Given the description of an element on the screen output the (x, y) to click on. 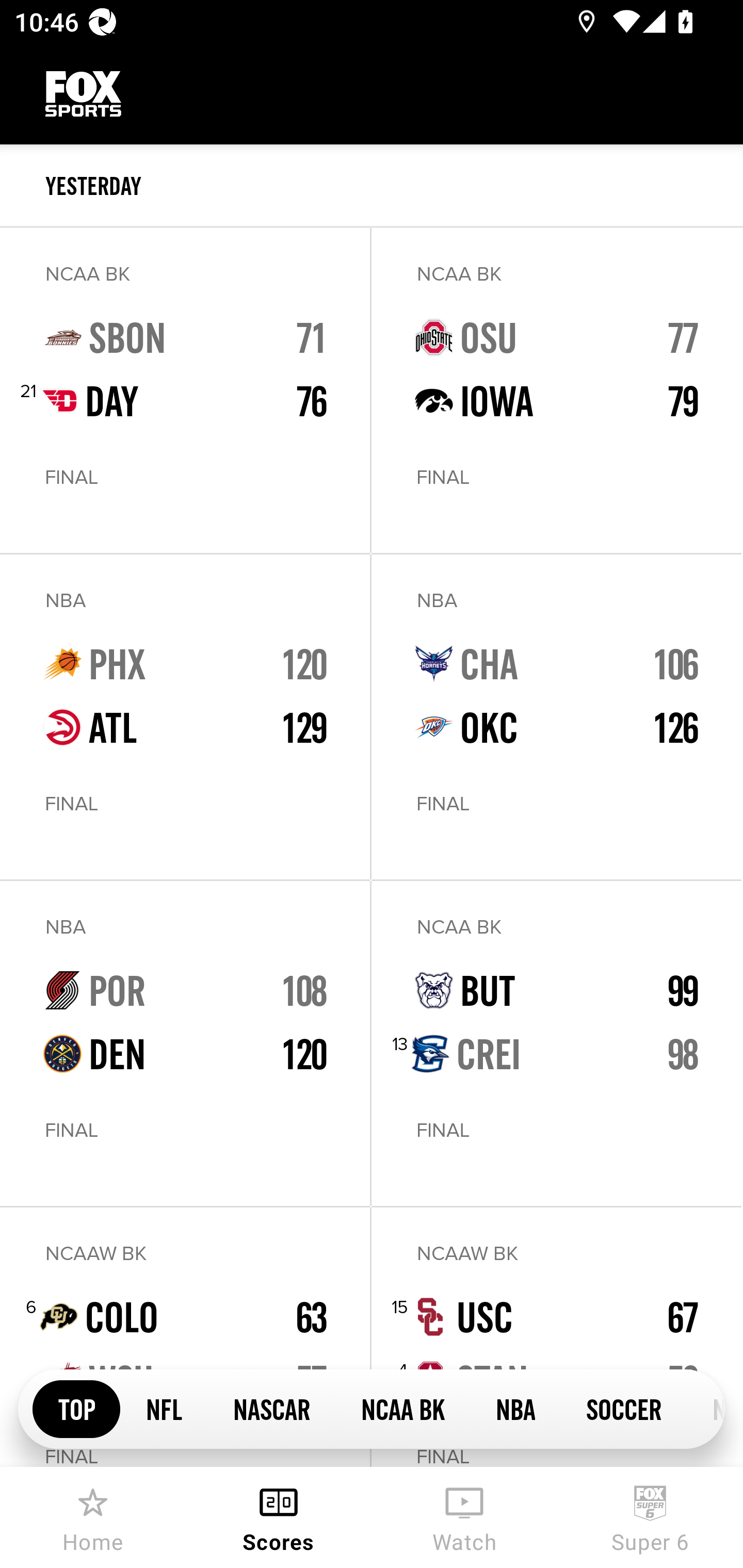
YESTERDAY (394, 185)
NCAA BK SBON 71 21 DAY 76 FINAL (185, 390)
NCAA BK OSU 77 IOWA 79 FINAL (556, 390)
NBA PHX 120 ATL 129 FINAL (185, 717)
NBA CHA 106 OKC 126 FINAL (556, 717)
NBA POR 108 DEN 120 FINAL (185, 1043)
NCAA BK BUT 99 13 CREI 98 FINAL (556, 1043)
NCAAW BK 6 COLO 63 WSU 57 FINAL (185, 1337)
NCAAW BK 15 USC 67 4 STAN 58 FINAL (556, 1337)
NFL (163, 1408)
NASCAR (271, 1408)
NCAA BK (402, 1408)
NBA (515, 1408)
SOCCER (623, 1408)
Home (92, 1517)
Watch (464, 1517)
Super 6 (650, 1517)
